Given the description of an element on the screen output the (x, y) to click on. 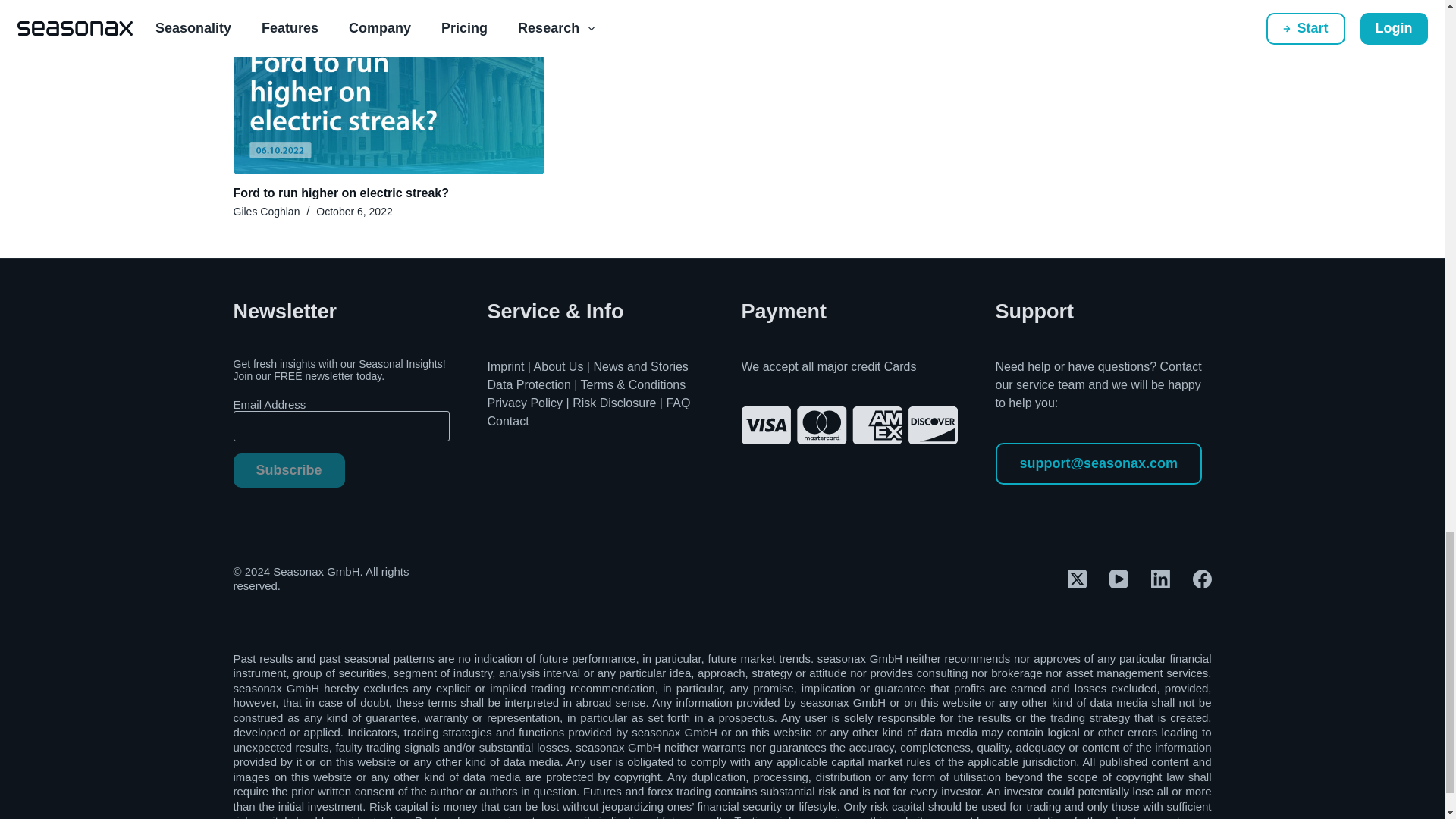
Posts by Giles Coghlan (934, 36)
Posts by Giles Coghlan (265, 211)
Subscribe (288, 470)
Posts by Giles Coghlan (600, 36)
